Given the description of an element on the screen output the (x, y) to click on. 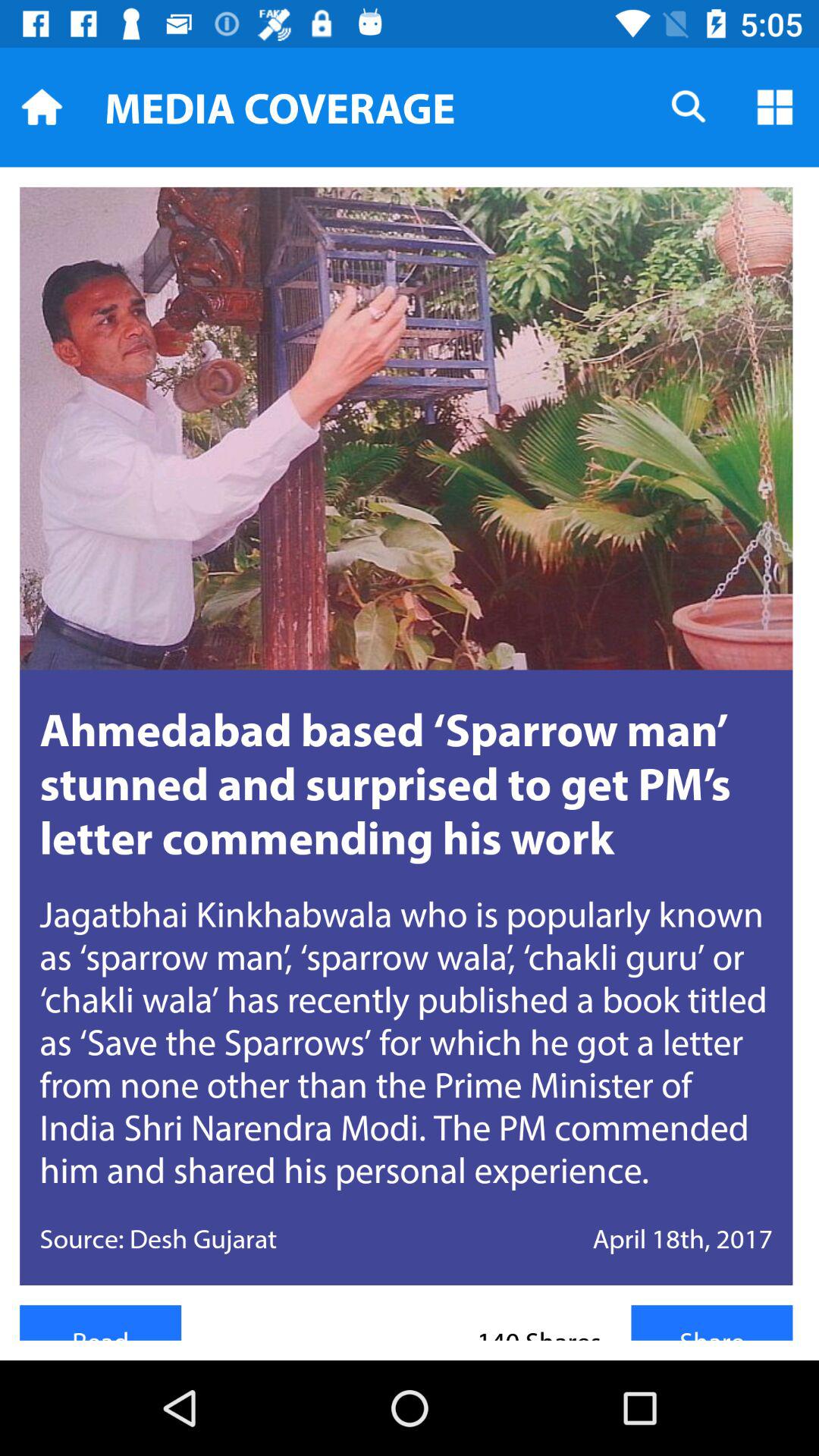
click on home icon which is at top left corner of the page (42, 106)
icon next to search icon at the top right corner of the page (775, 106)
